Given the description of an element on the screen output the (x, y) to click on. 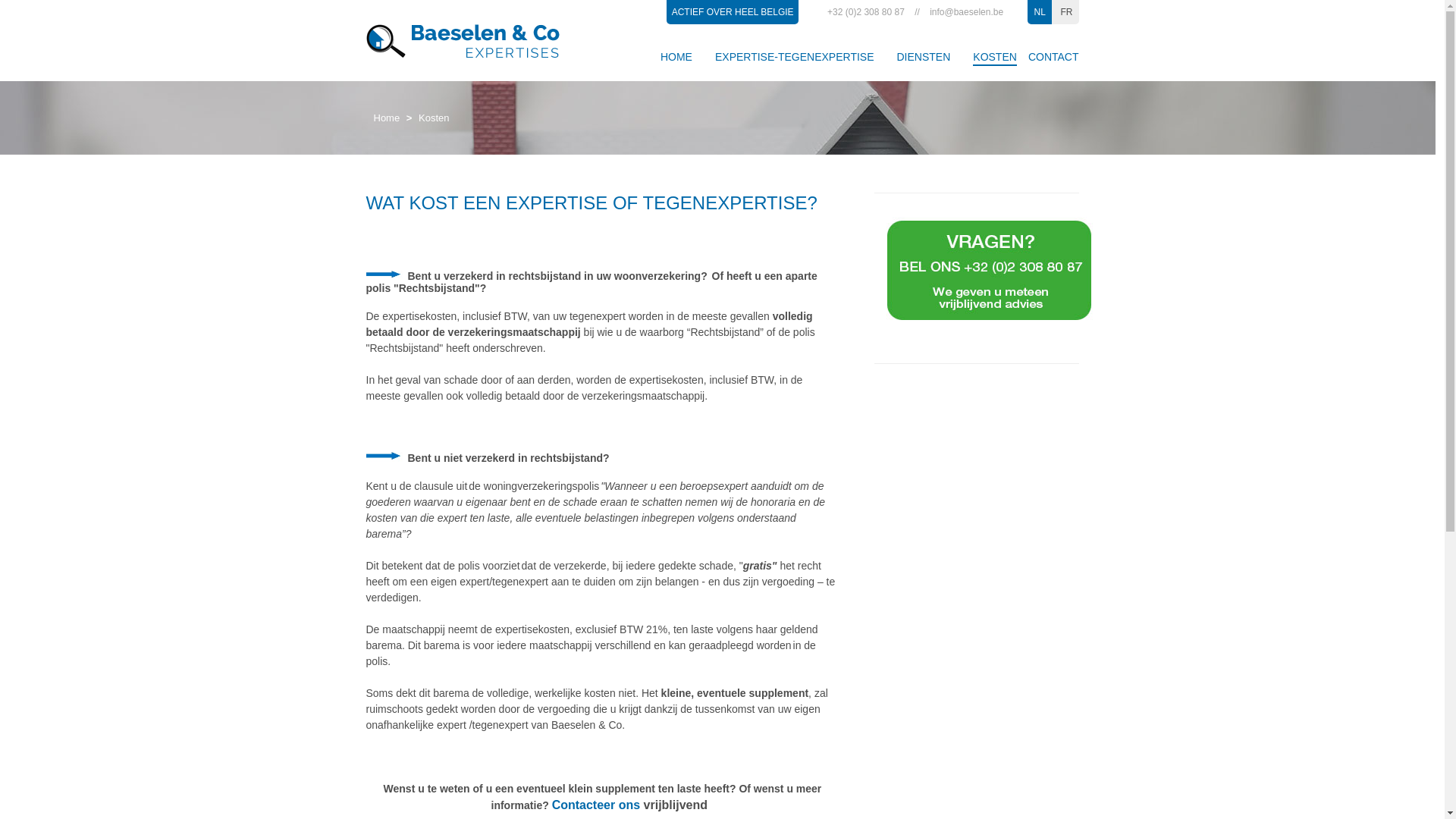
NL Element type: text (1039, 12)
Contacteer ons Element type: text (596, 804)
Home Element type: text (386, 117)
DIENSTEN Element type: text (923, 57)
EXPERTISE-TEGENEXPERTISE Element type: text (794, 57)
+32 (0)2 308 80 87 Element type: text (865, 11)
KOSTEN Element type: text (994, 57)
FR Element type: text (1066, 12)
ACTIEF OVER HEEL BELGIE Element type: text (732, 12)
CONTACT Element type: text (1053, 57)
HOME Element type: text (676, 57)
info@baeselen.be Element type: text (966, 11)
